Given the description of an element on the screen output the (x, y) to click on. 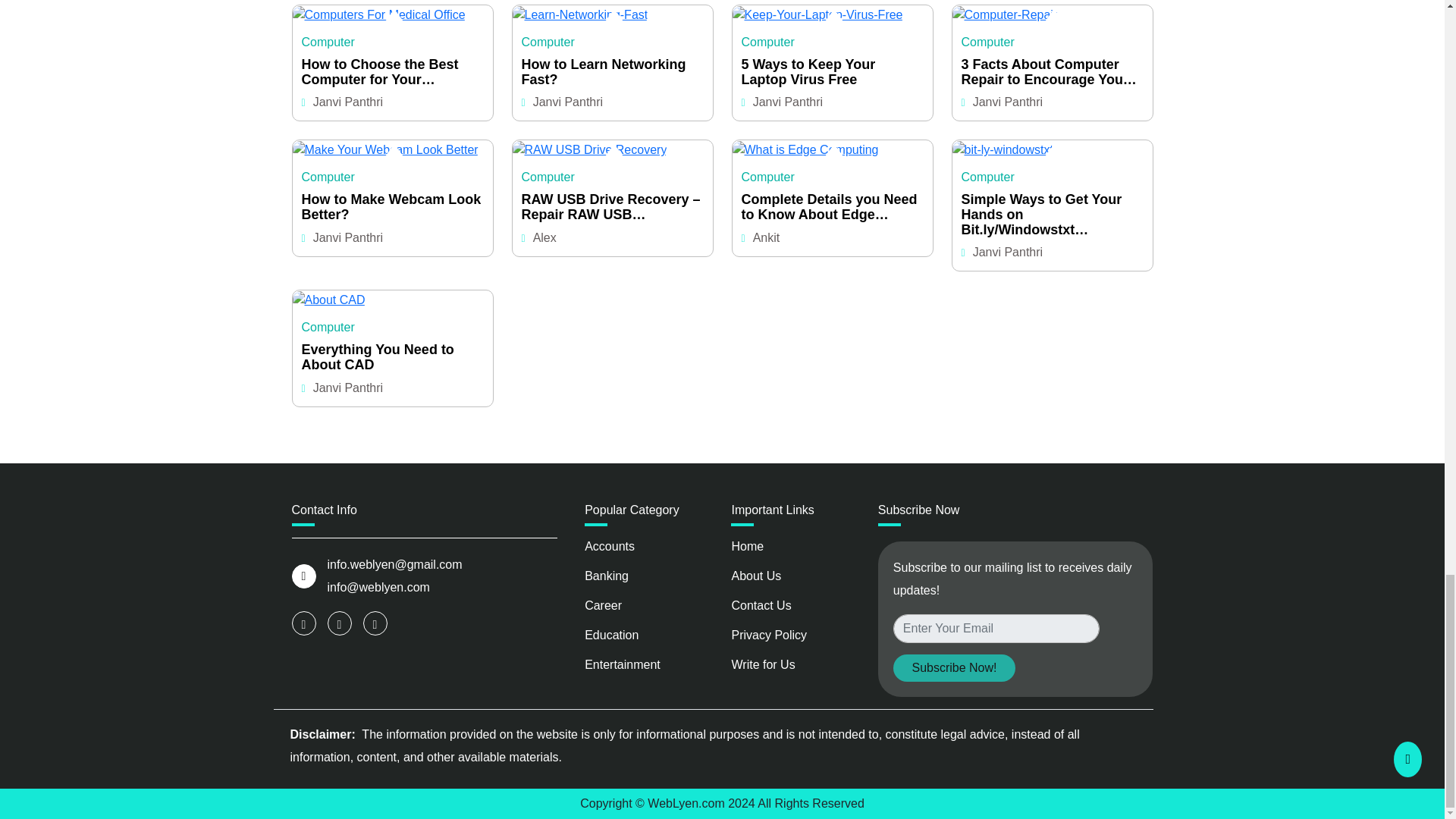
Subscribe Now! (953, 667)
Computer (328, 42)
Janvi Panthri (348, 101)
